Given the description of an element on the screen output the (x, y) to click on. 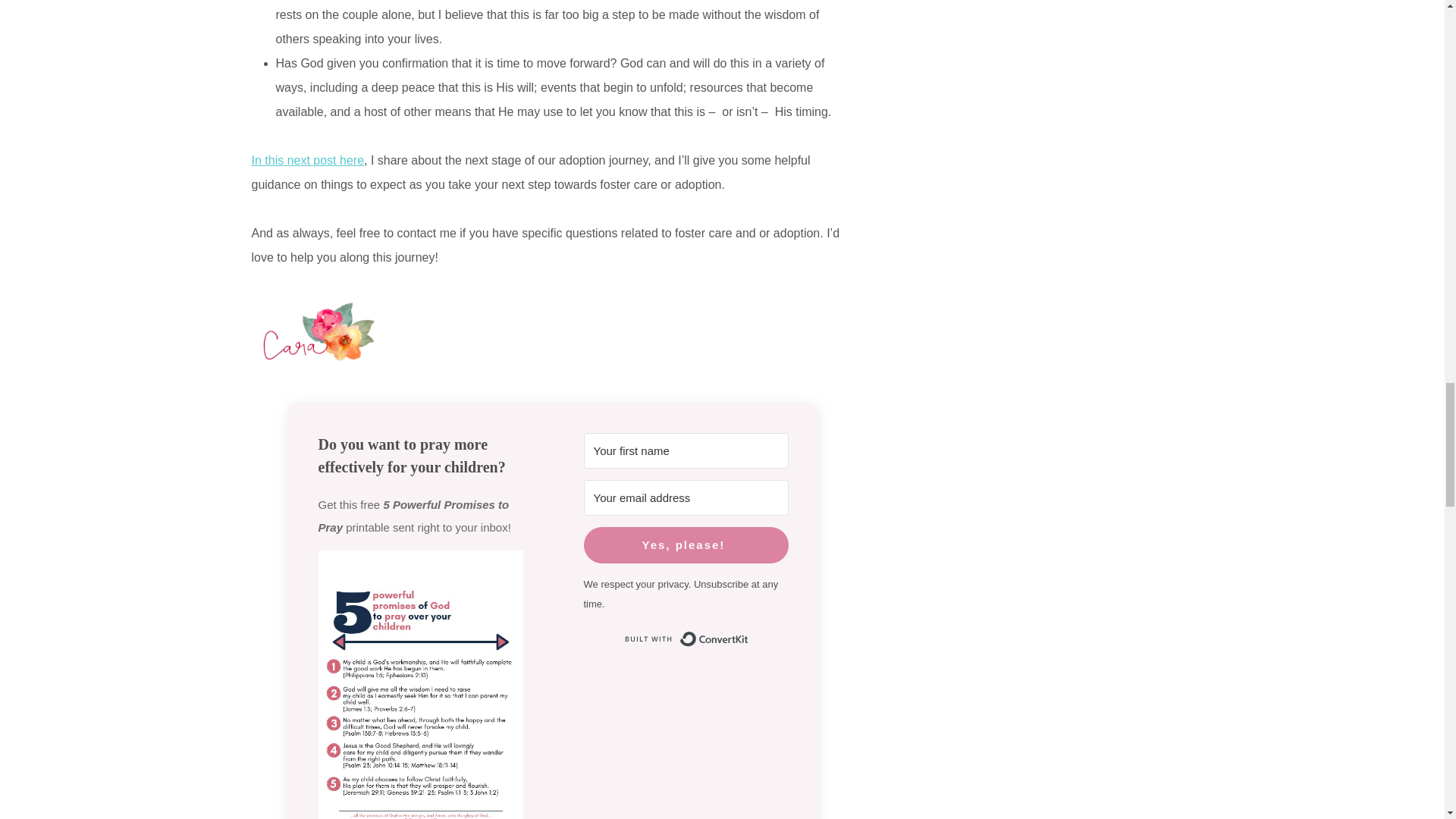
Yes, please!  (686, 545)
Built with ConvertKit (686, 638)
In this next post here (308, 160)
